Given the description of an element on the screen output the (x, y) to click on. 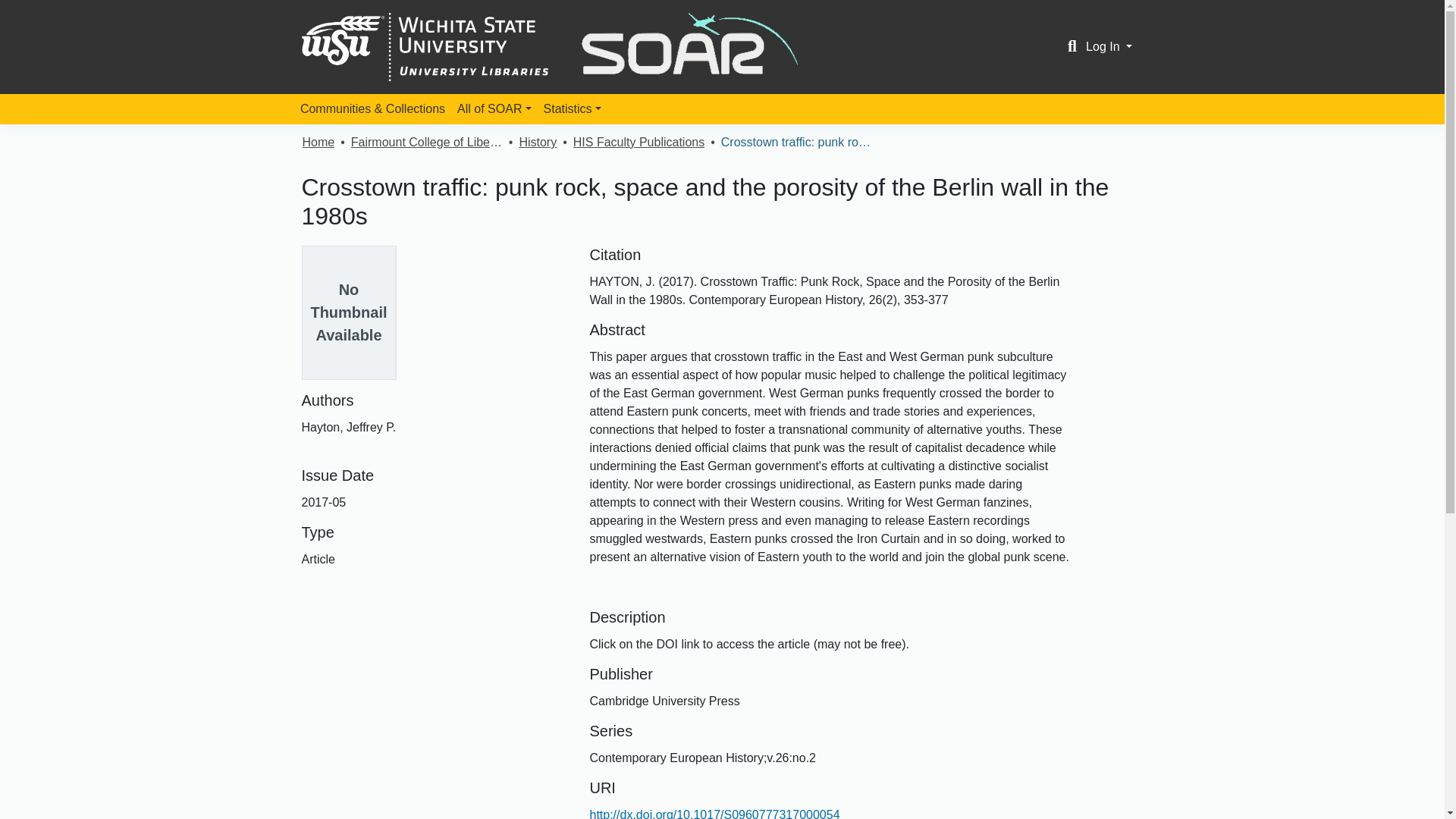
HIS Faculty Publications (638, 142)
Log In (1108, 46)
Home (317, 142)
Statistics (572, 109)
History (537, 142)
All of SOAR (494, 109)
Search (1072, 46)
Fairmount College of Liberal Arts and Sciences (426, 142)
